Given the description of an element on the screen output the (x, y) to click on. 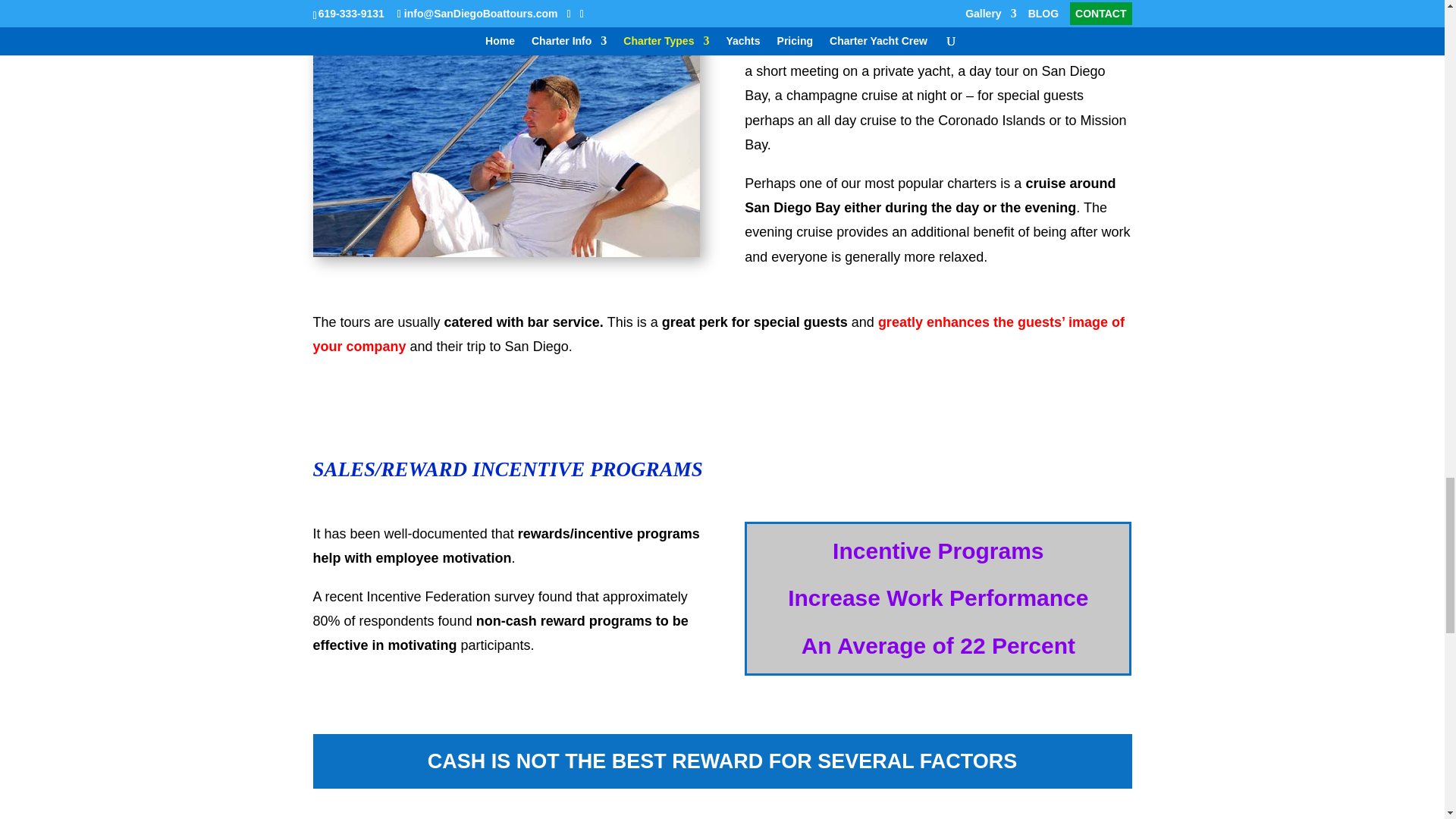
VIP Guest on Yacht Charter (505, 146)
